Given the description of an element on the screen output the (x, y) to click on. 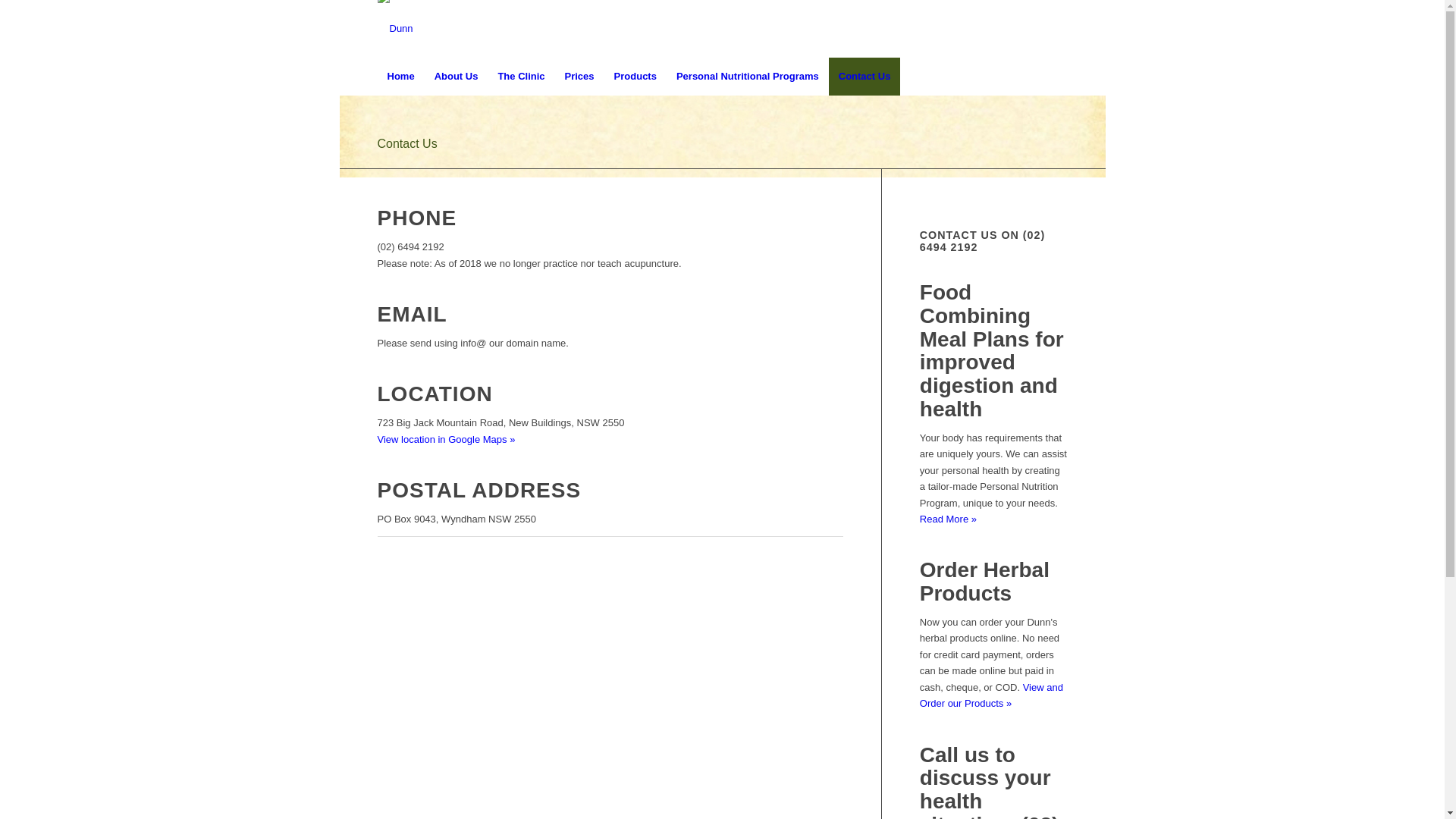
Home Element type: text (400, 76)
Contact Us Element type: text (864, 76)
Products Element type: text (635, 76)
Prices Element type: text (579, 76)
Personal Nutritional Programs Element type: text (747, 76)
The Clinic Element type: text (520, 76)
Contact Us Element type: text (407, 143)
About Us Element type: text (456, 76)
